Given the description of an element on the screen output the (x, y) to click on. 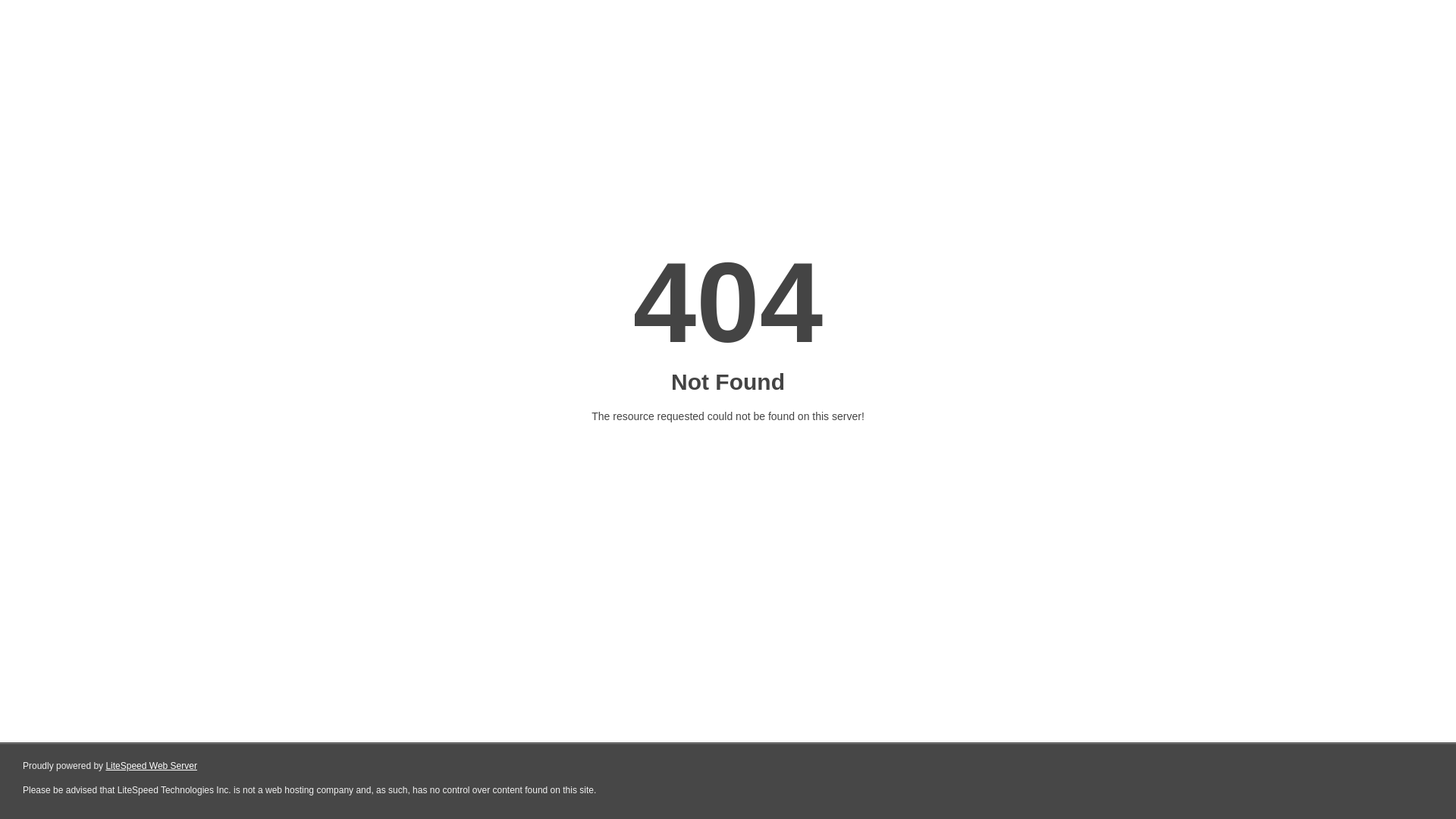
LiteSpeed Web Server (150, 765)
